Given the description of an element on the screen output the (x, y) to click on. 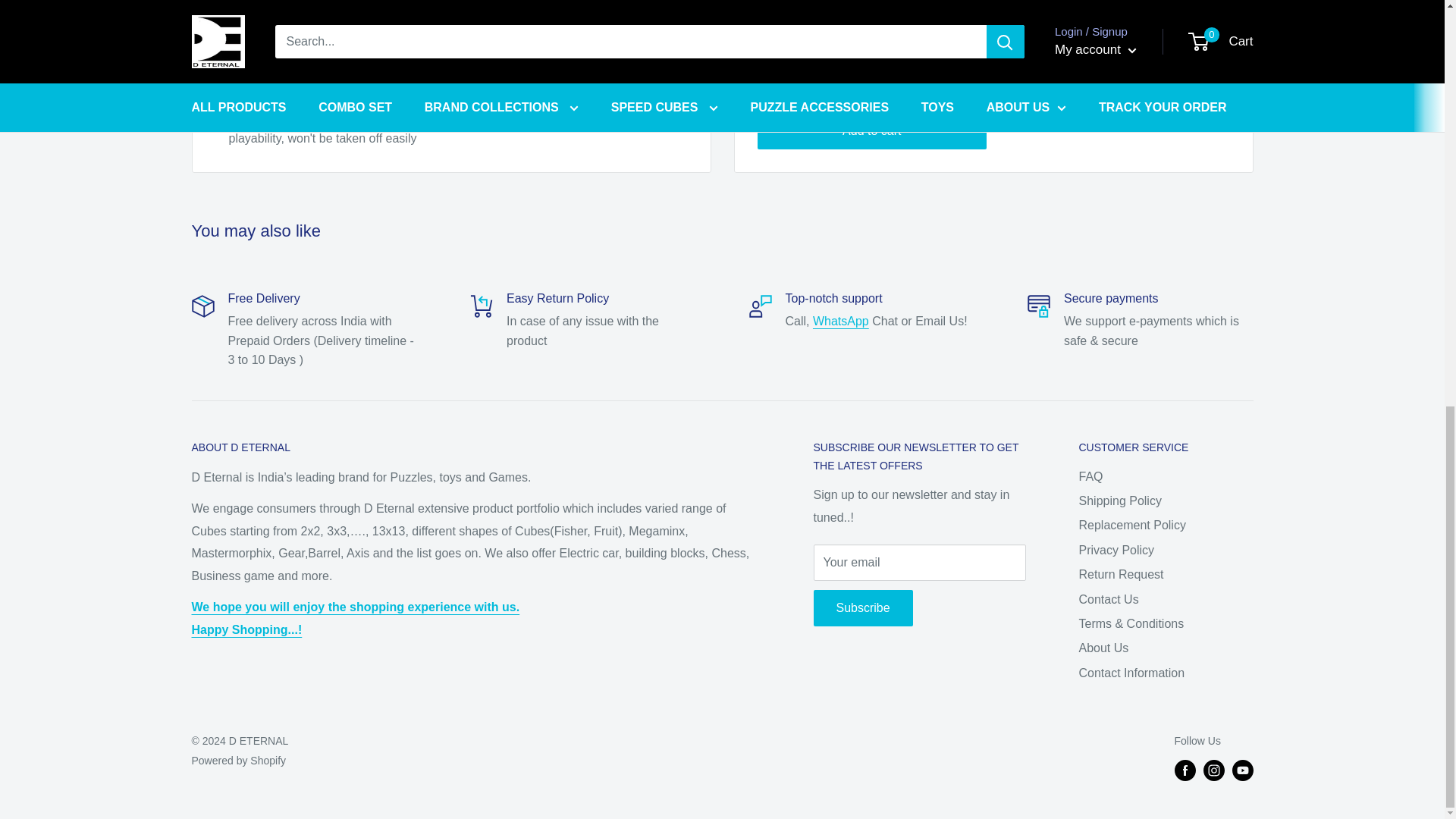
CONTACT US (840, 320)
ABOUT D ETERNAL (354, 618)
